Given the description of an element on the screen output the (x, y) to click on. 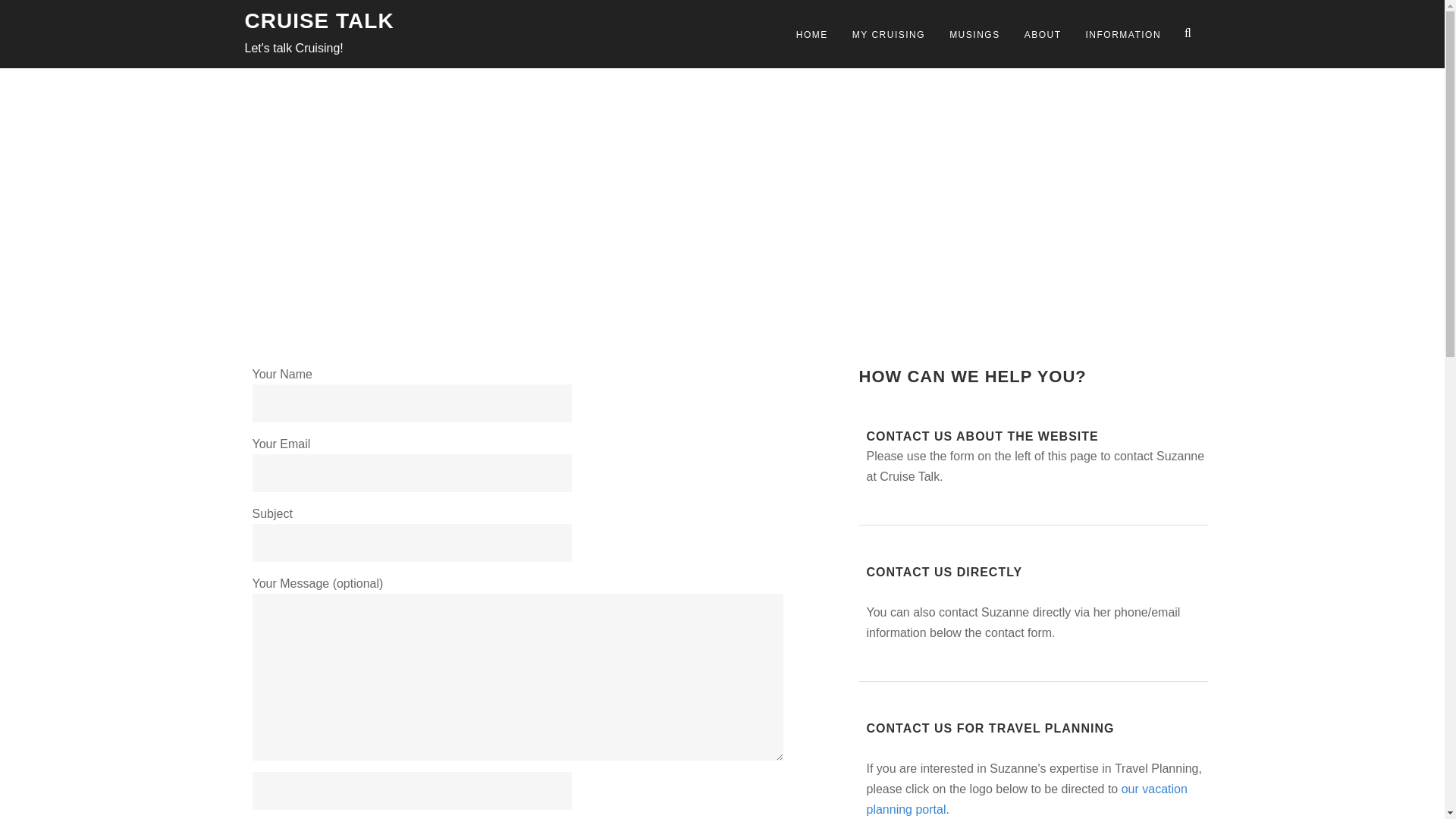
our vacation planning portal (1026, 798)
MY CRUISING (888, 33)
HOME (811, 33)
ABOUT (1043, 33)
MUSINGS (974, 33)
INFORMATION (1123, 33)
Cruise Talk (318, 20)
CRUISE TALK (318, 20)
Cruise Talk (293, 47)
Let's talk Cruising! (293, 47)
